Given the description of an element on the screen output the (x, y) to click on. 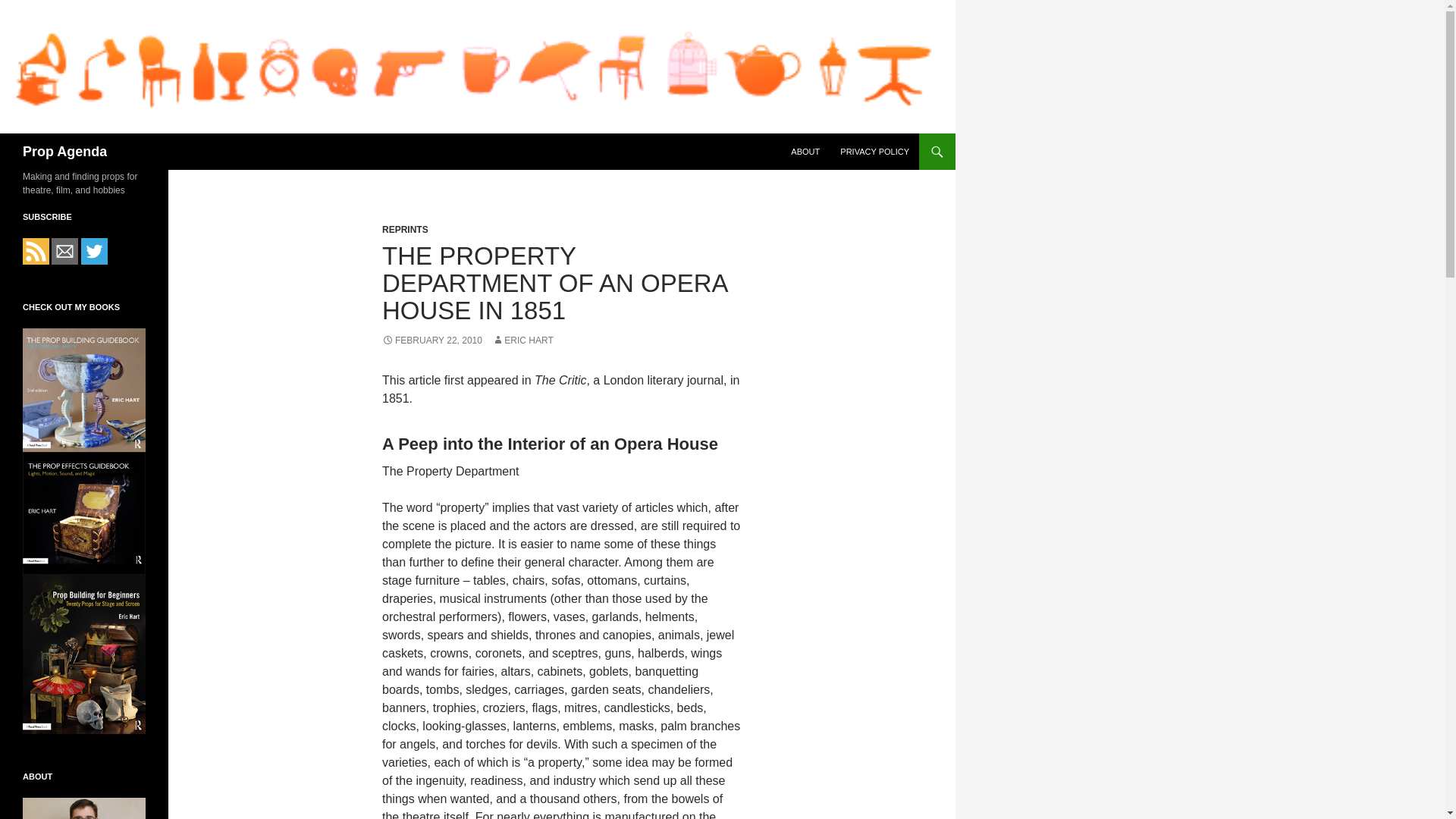
REPRINTS (404, 229)
ABOUT (804, 151)
PRIVACY POLICY (874, 151)
ERIC HART (522, 339)
FEBRUARY 22, 2010 (431, 339)
Prop Agenda (64, 151)
